Given the description of an element on the screen output the (x, y) to click on. 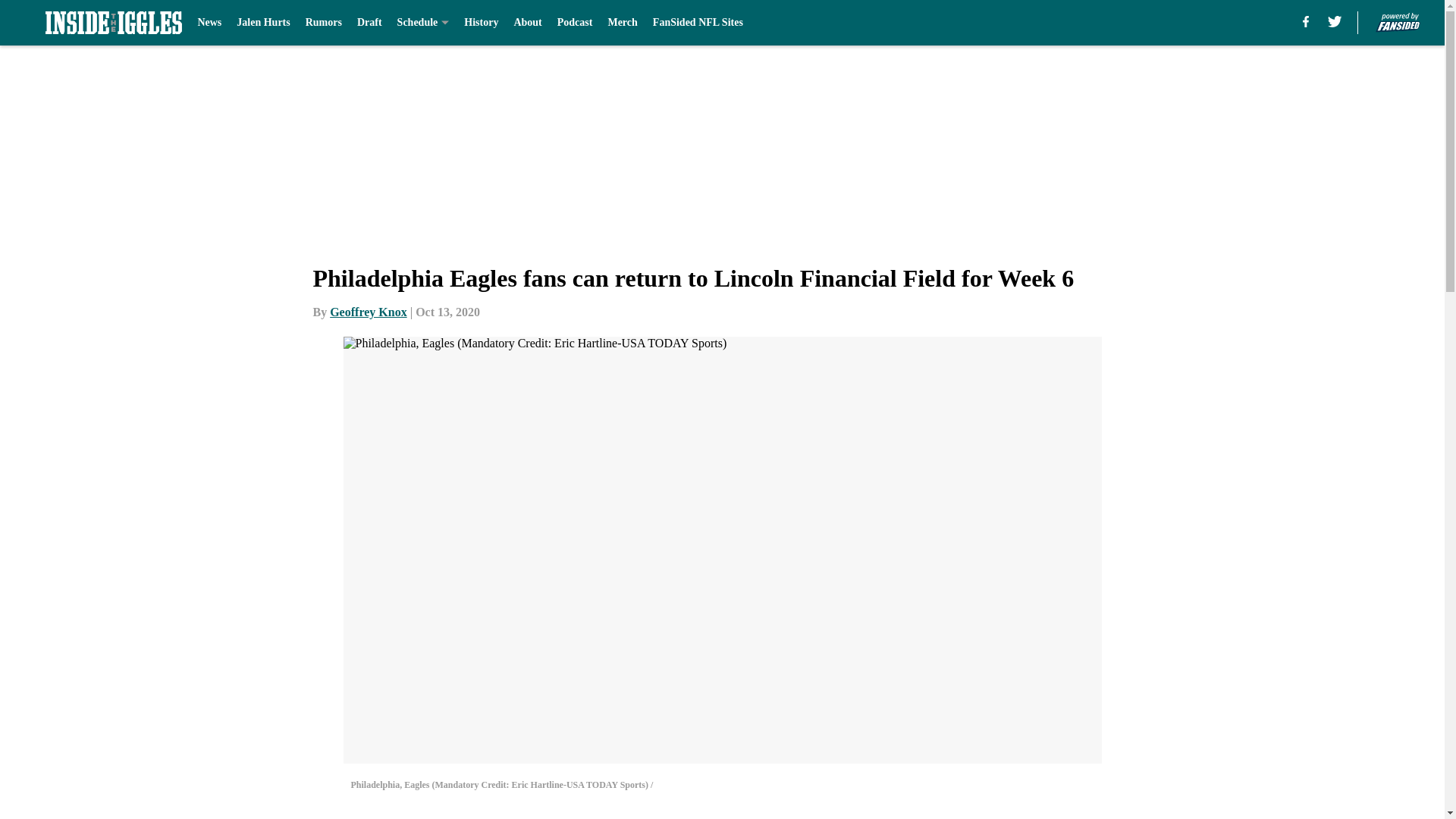
News (208, 22)
Merch (622, 22)
FanSided NFL Sites (697, 22)
Podcast (574, 22)
History (480, 22)
Rumors (323, 22)
Draft (368, 22)
Geoffrey Knox (368, 311)
About (527, 22)
Jalen Hurts (262, 22)
